Given the description of an element on the screen output the (x, y) to click on. 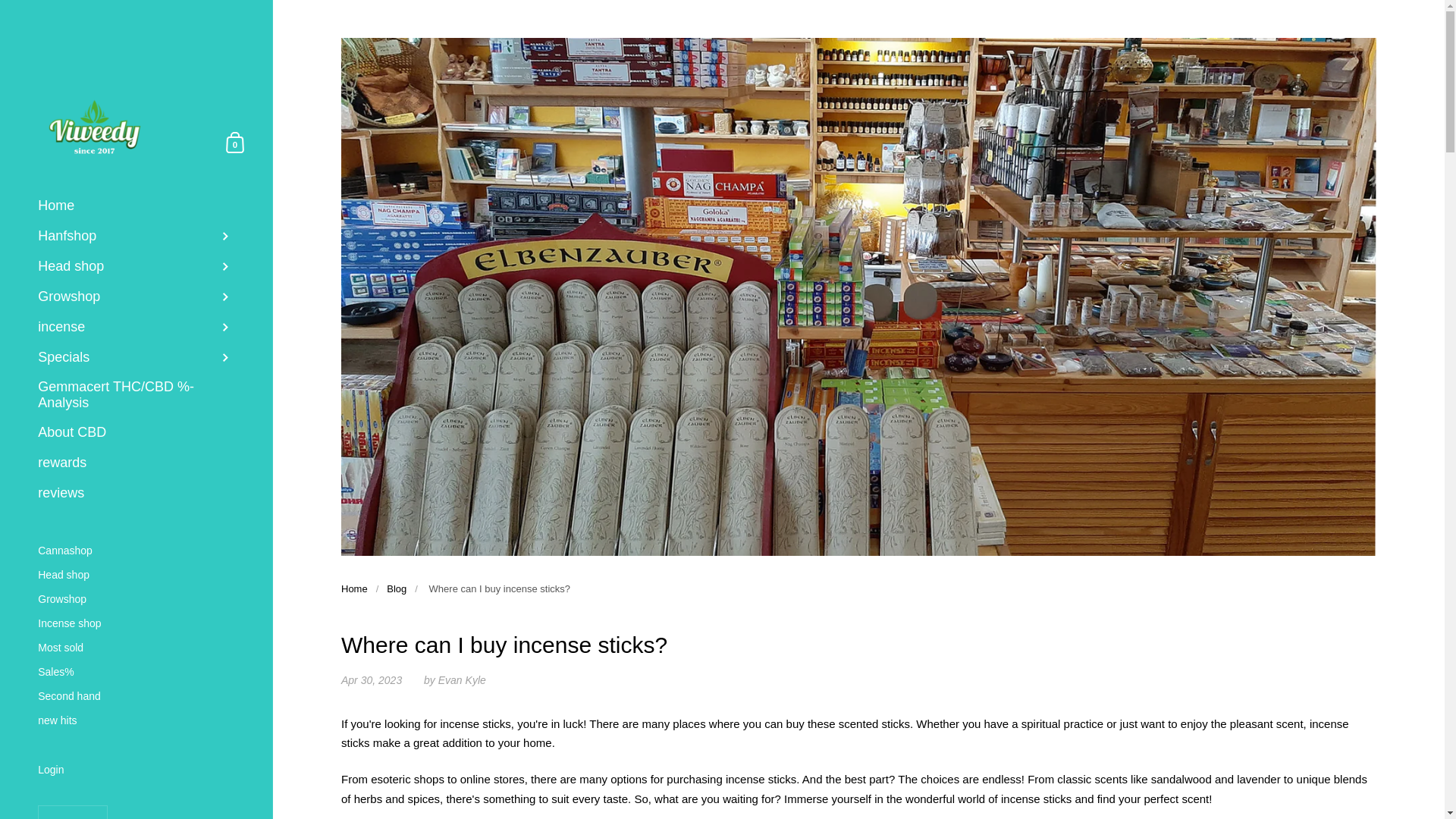
Home (136, 205)
Shopping Cart (235, 141)
Hanfshop (235, 141)
Skip to content (136, 236)
